Given the description of an element on the screen output the (x, y) to click on. 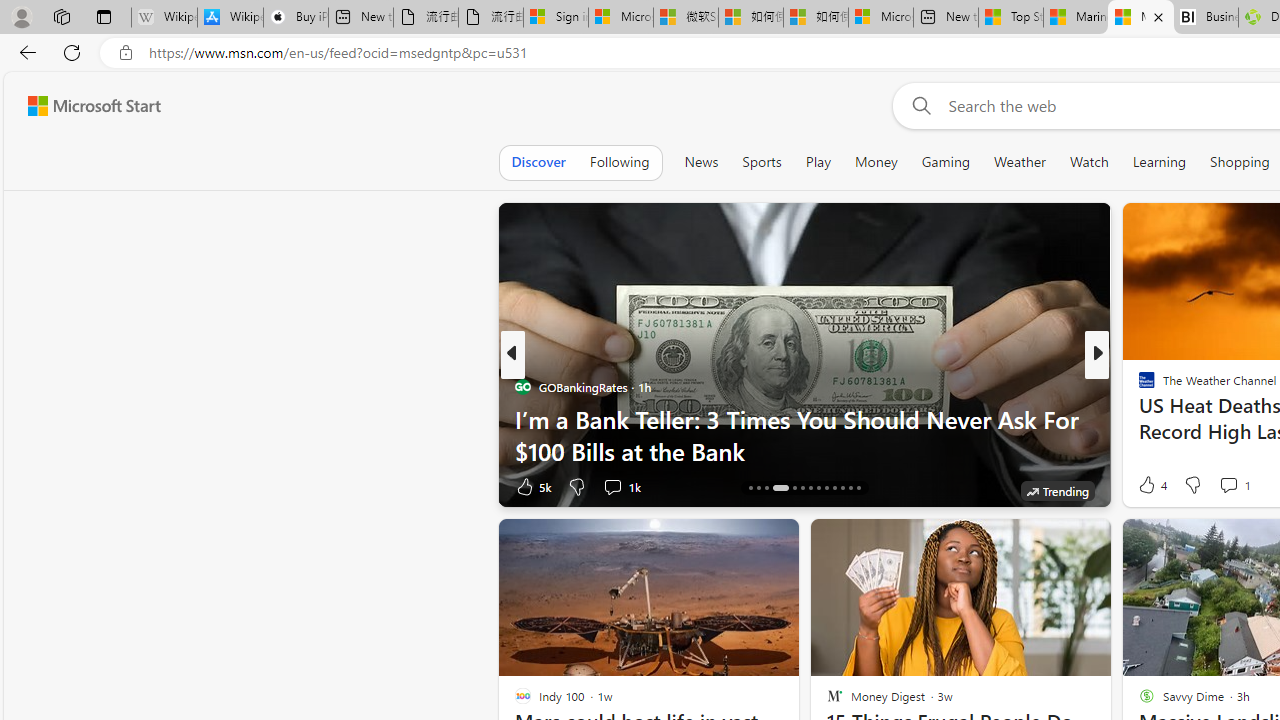
Skip to content (86, 105)
AutomationID: tab-19 (801, 487)
150 Like (1151, 486)
Hide this story (1050, 542)
4 Like (1151, 484)
AutomationID: tab-17 (780, 487)
12 Like (1149, 486)
View comments 3 Comment (1241, 486)
Microsoft account | Account Checkup (880, 17)
